Given the description of an element on the screen output the (x, y) to click on. 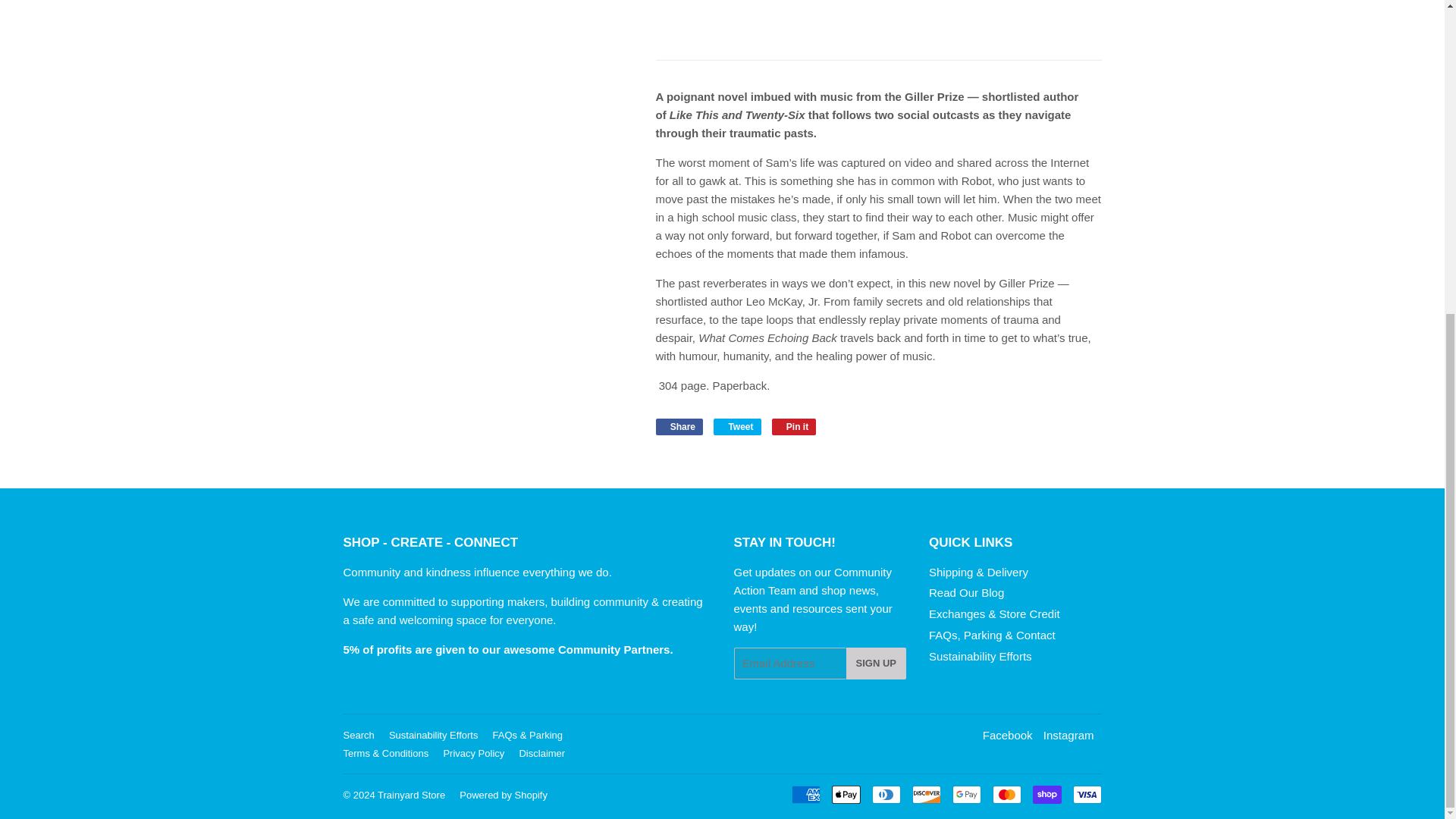
Trainyard Store on Facebook (1007, 735)
Diners Club (886, 794)
Visa (1085, 794)
Apple Pay (845, 794)
Google Pay (966, 794)
Pin on Pinterest (793, 426)
Discover (925, 794)
Shop Pay (1046, 794)
American Express (806, 794)
Share on Facebook (679, 426)
